Given the description of an element on the screen output the (x, y) to click on. 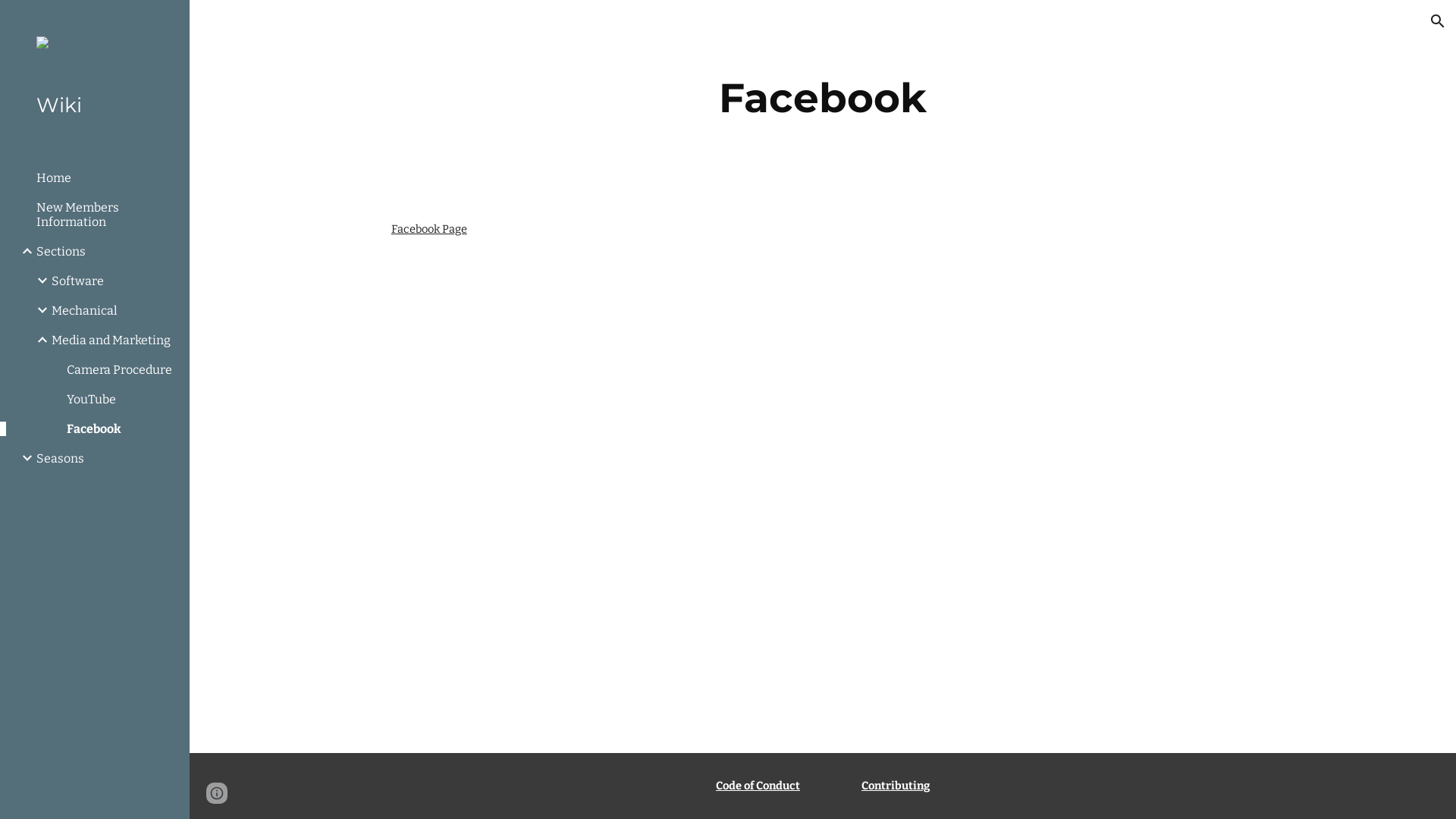
Software Element type: text (114, 280)
Code of Conduct Element type: text (757, 785)
Mechanical Element type: text (114, 310)
YouTube Element type: text (121, 399)
Sections Element type: text (106, 251)
Expand/Collapse Element type: hover (22, 457)
Home Element type: text (106, 177)
Expand/Collapse Element type: hover (22, 250)
Wiki Element type: text (100, 105)
Facebook Page Element type: text (429, 228)
New Members Information Element type: text (106, 214)
Camera Procedure Element type: text (121, 369)
Expand/Collapse Element type: hover (37, 280)
Expand/Collapse Element type: hover (37, 310)
Expand/Collapse Element type: hover (37, 339)
Seasons Element type: text (106, 458)
Contributing Element type: text (895, 785)
Facebook Element type: text (121, 428)
Media and Marketing Element type: text (114, 339)
